Given the description of an element on the screen output the (x, y) to click on. 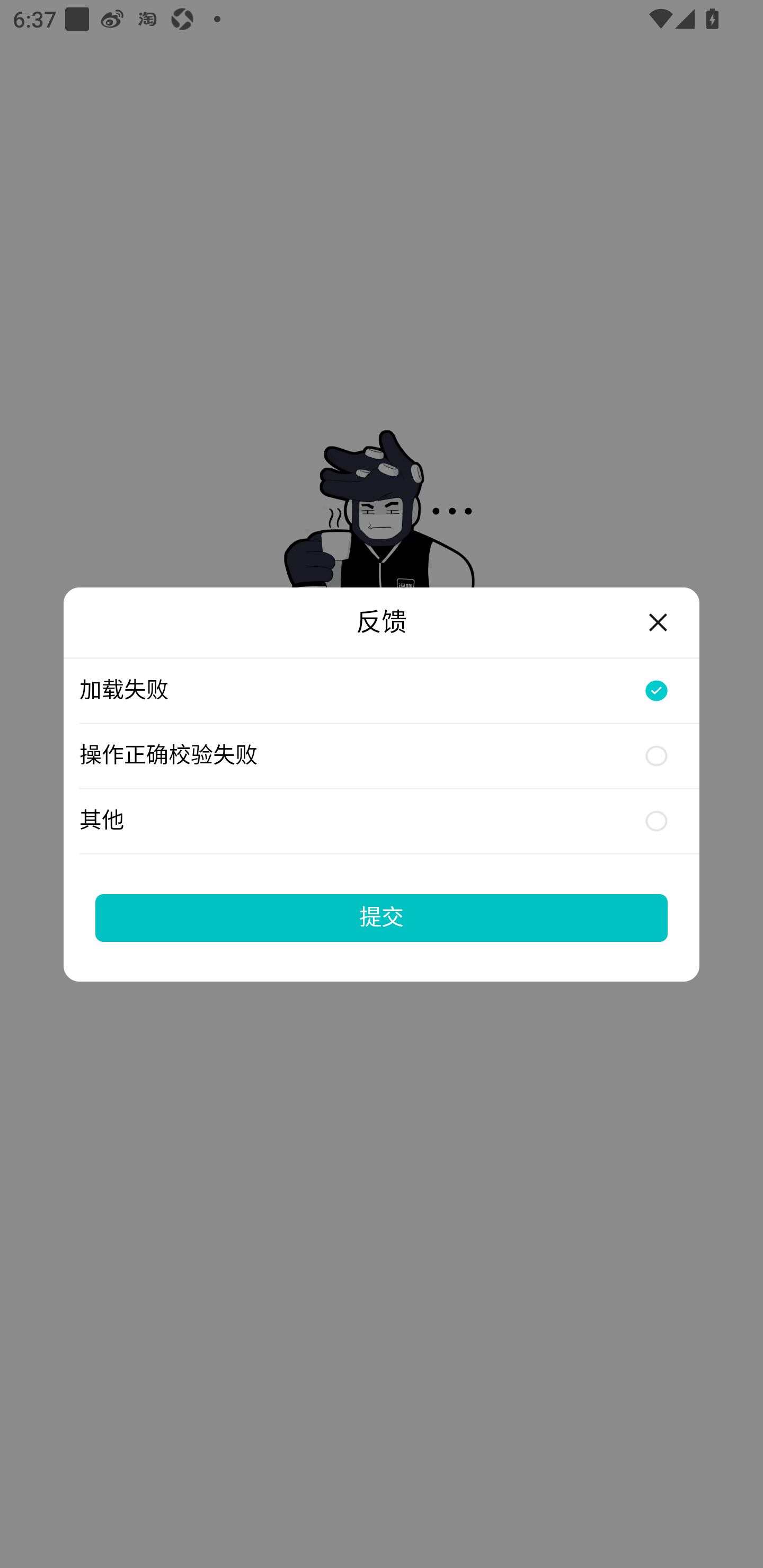
提交 (381, 917)
